Given the description of an element on the screen output the (x, y) to click on. 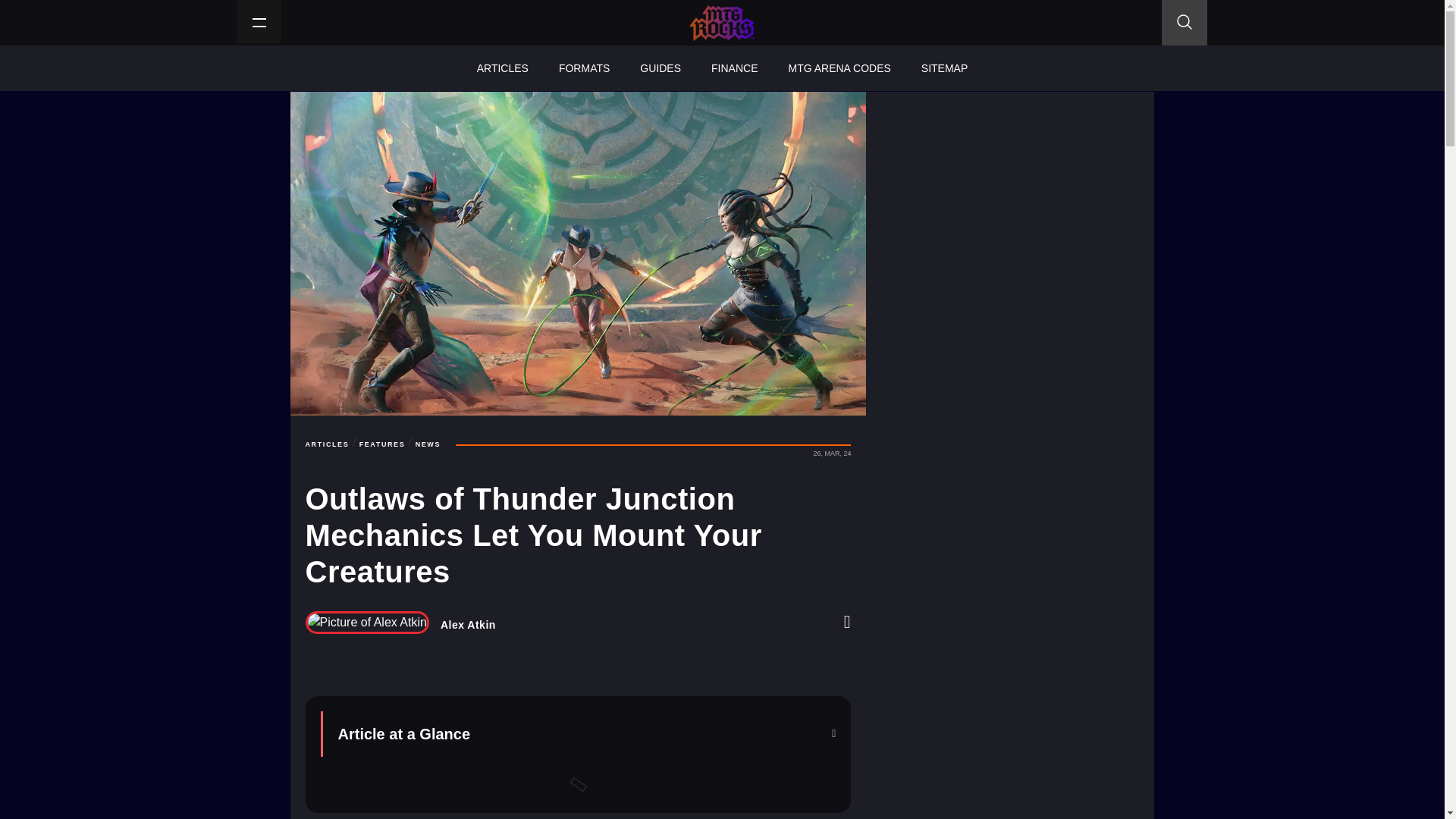
ARTICLES (502, 68)
FORMATS (583, 68)
FINANCE (734, 68)
ARTICLES (326, 444)
MTG ARENA CODES (839, 68)
SITEMAP (943, 68)
FEATURES (382, 444)
GUIDES (659, 68)
